Given the description of an element on the screen output the (x, y) to click on. 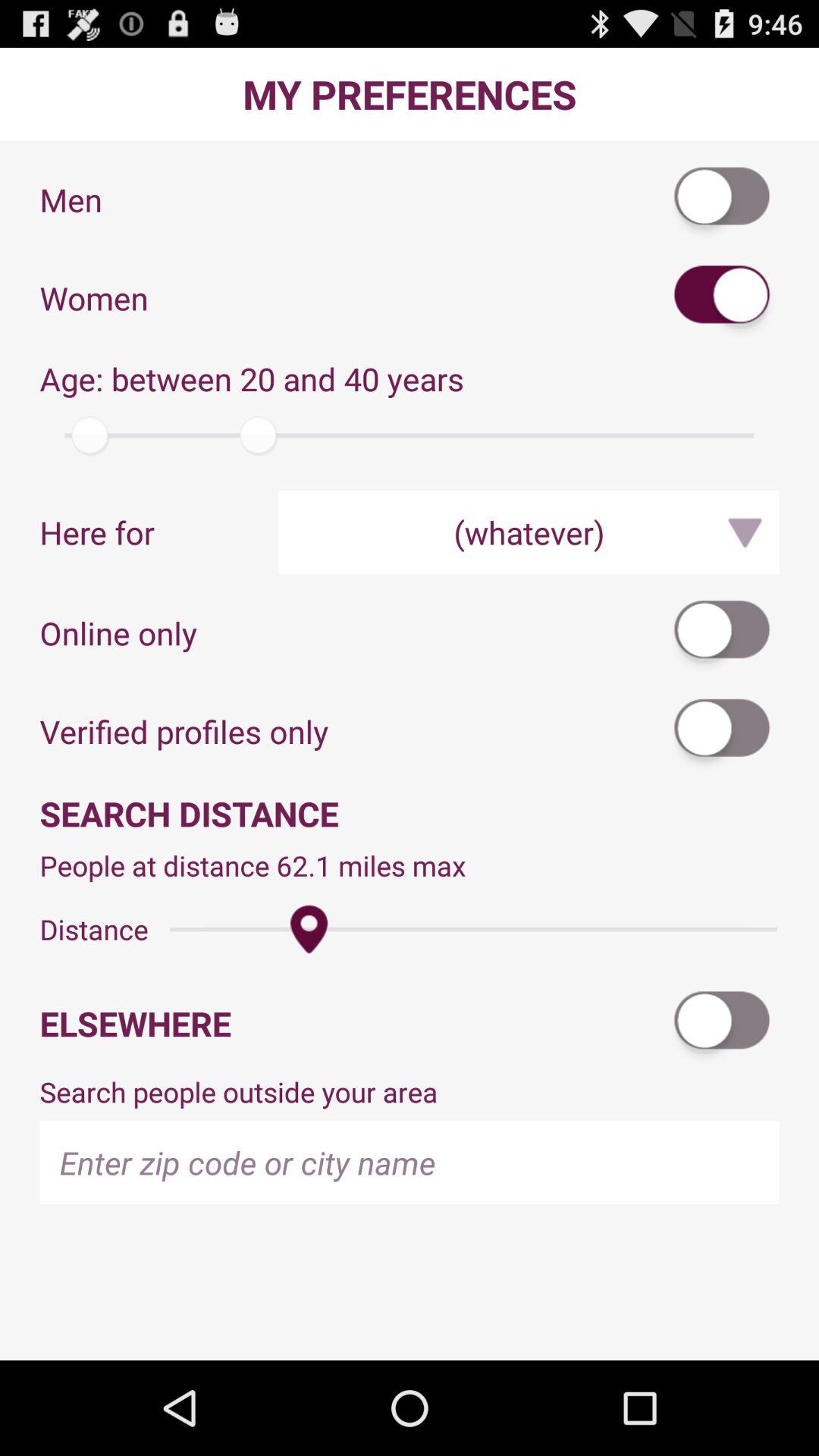
turn off icon to the right of the verified profiles only app (722, 731)
